Given the description of an element on the screen output the (x, y) to click on. 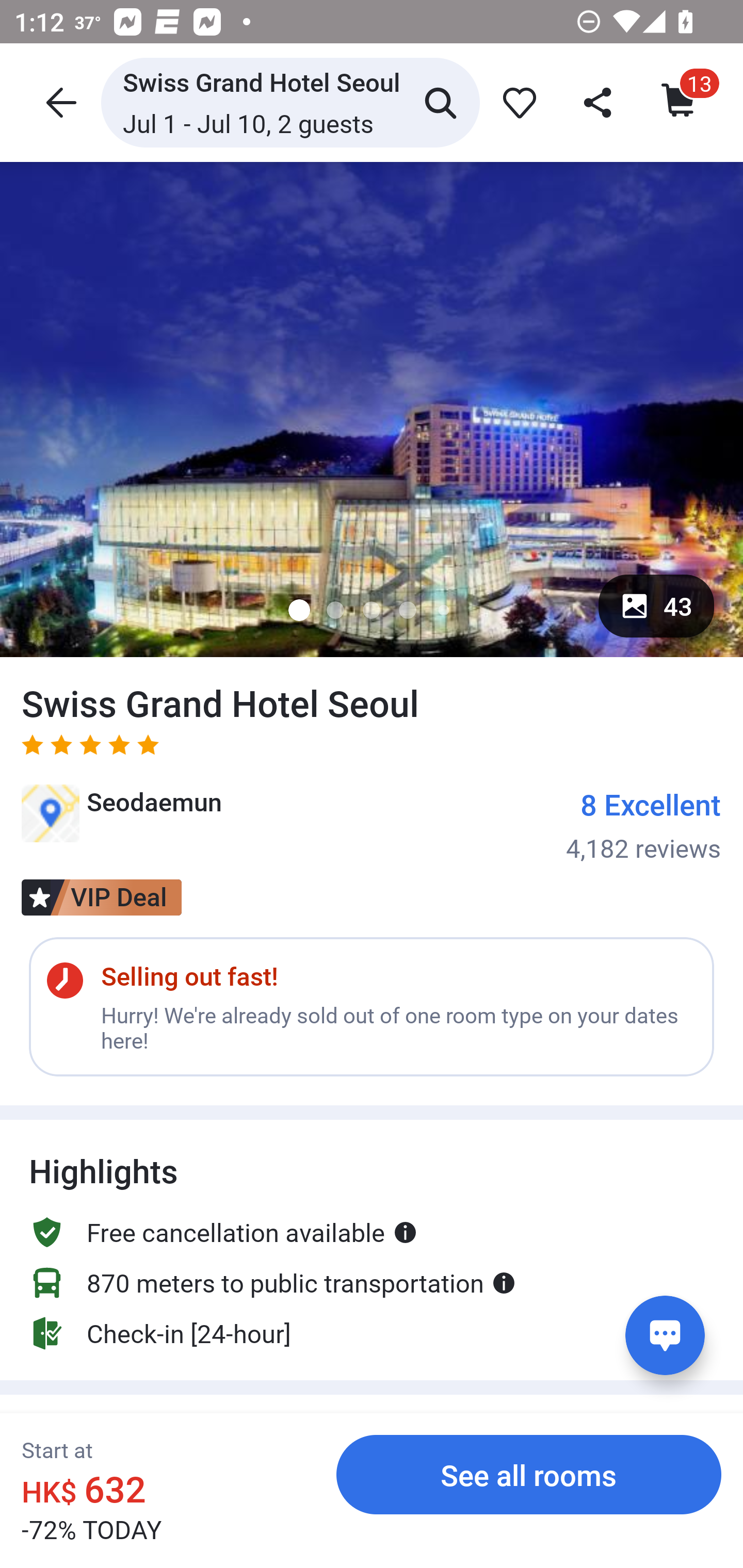
header icon (59, 102)
favorite_icon 0dbe6efb (515, 102)
share_header_icon (598, 102)
Cart icon cart_item_count 13 (679, 102)
image (371, 408)
43 (656, 605)
Seodaemun (121, 819)
8 Excellent 4,182 reviews (643, 824)
Free cancellation available (222, 1213)
870 meters to public transportation (272, 1282)
See all rooms (528, 1474)
